Given the description of an element on the screen output the (x, y) to click on. 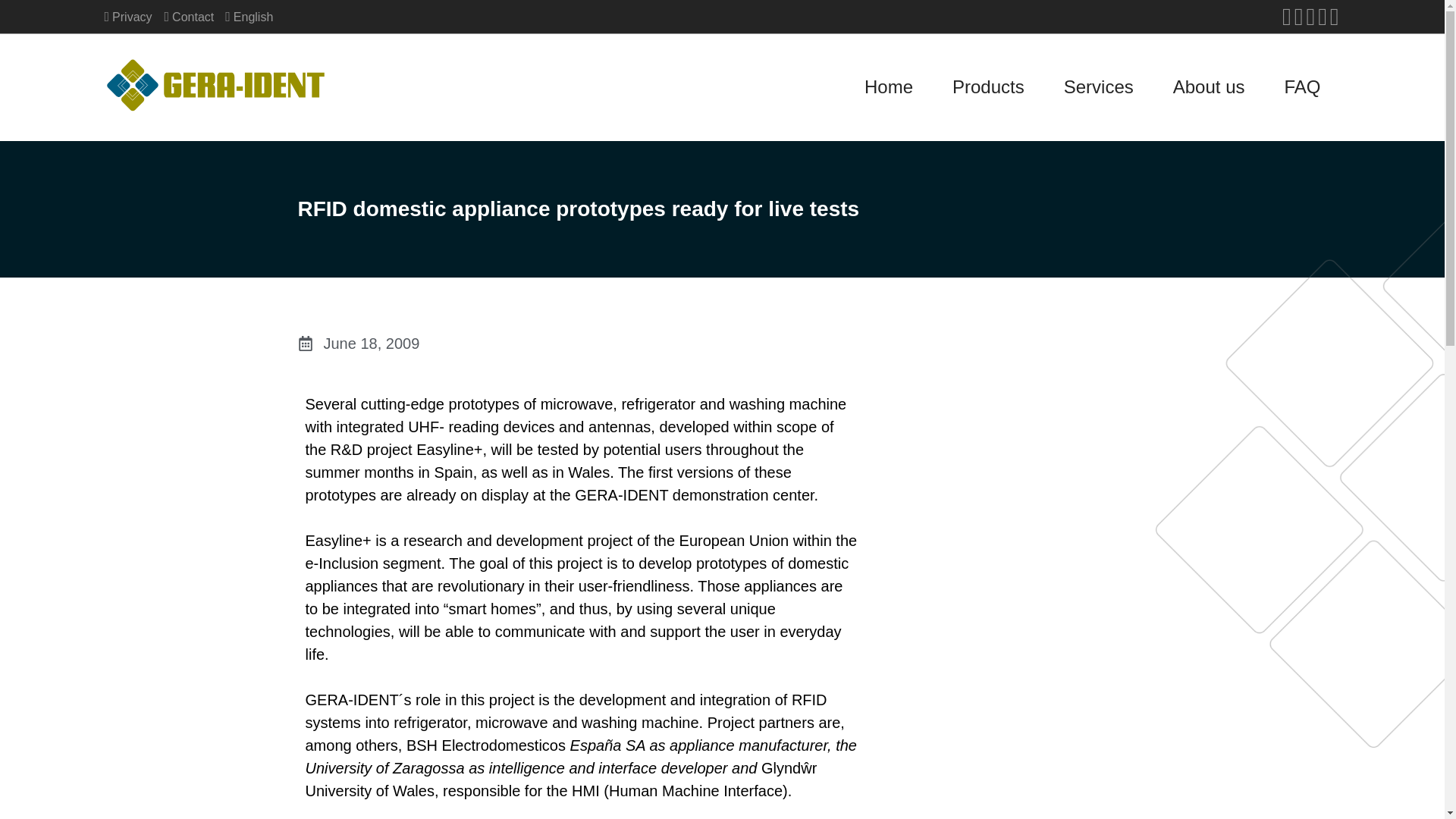
June 18, 2009 (358, 343)
Wir im xing (1310, 16)
Services (1098, 86)
Contact (189, 16)
Home (888, 86)
Wir im Linkedin (1286, 16)
Wir im Instagram (1333, 16)
Wir im Youtube (1321, 16)
Products (988, 86)
Privacy (131, 16)
Wir im Facebook (1298, 16)
FAQ (1301, 86)
About us (1209, 86)
